Given the description of an element on the screen output the (x, y) to click on. 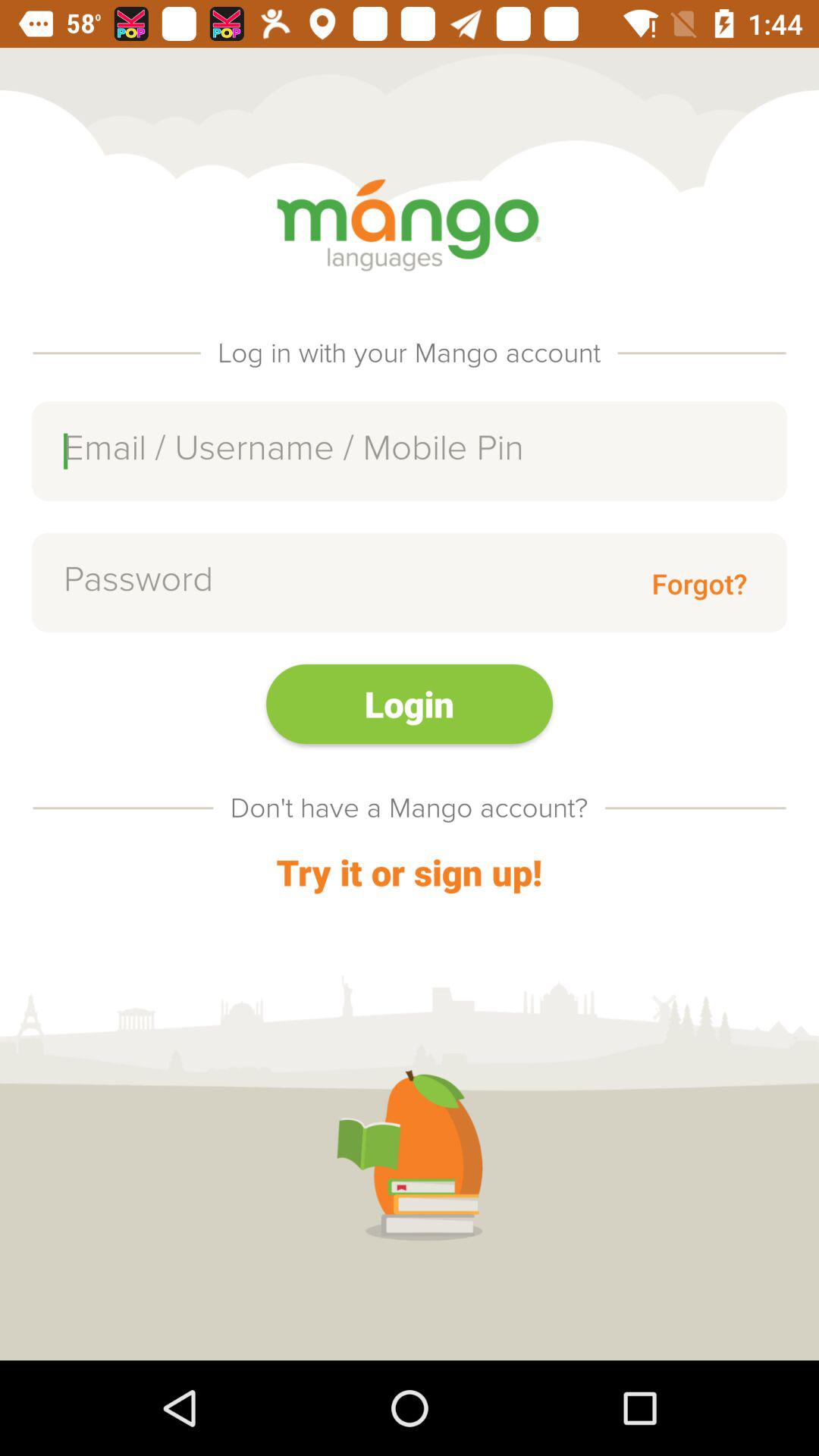
flip until forgot? icon (699, 582)
